Given the description of an element on the screen output the (x, y) to click on. 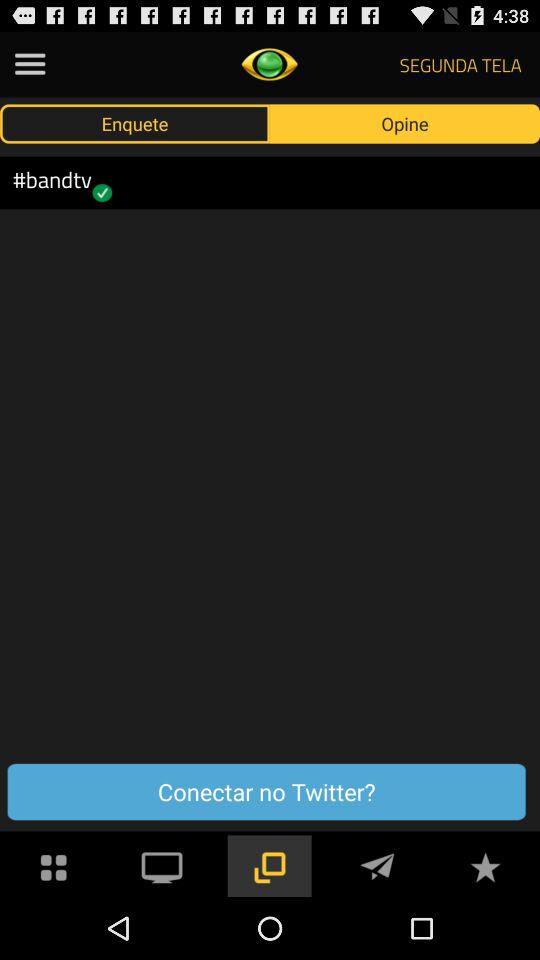
turn off button to the right of the enquete icon (405, 123)
